Given the description of an element on the screen output the (x, y) to click on. 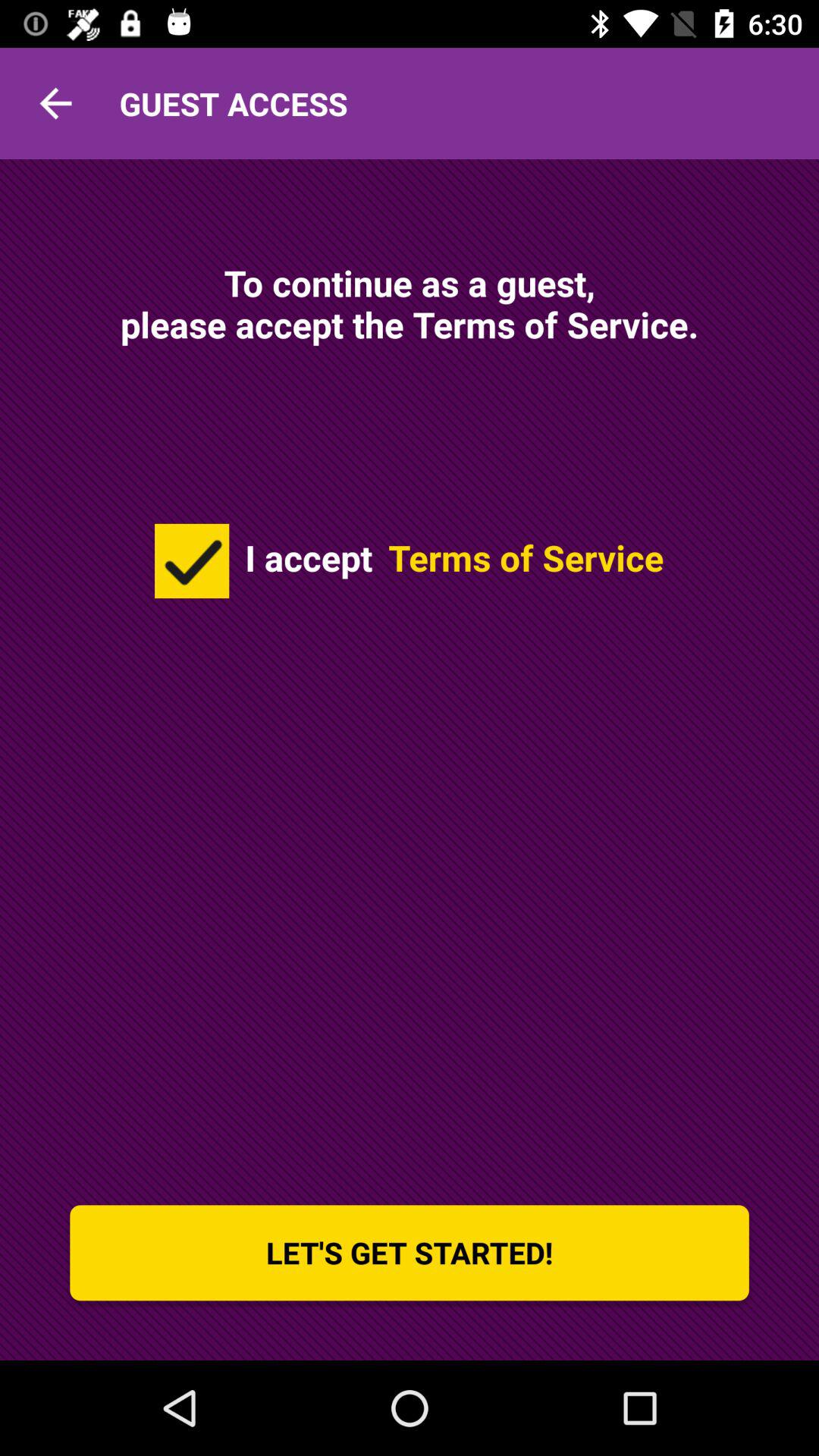
you are accepting the terms of service or not choose which (191, 560)
